Given the description of an element on the screen output the (x, y) to click on. 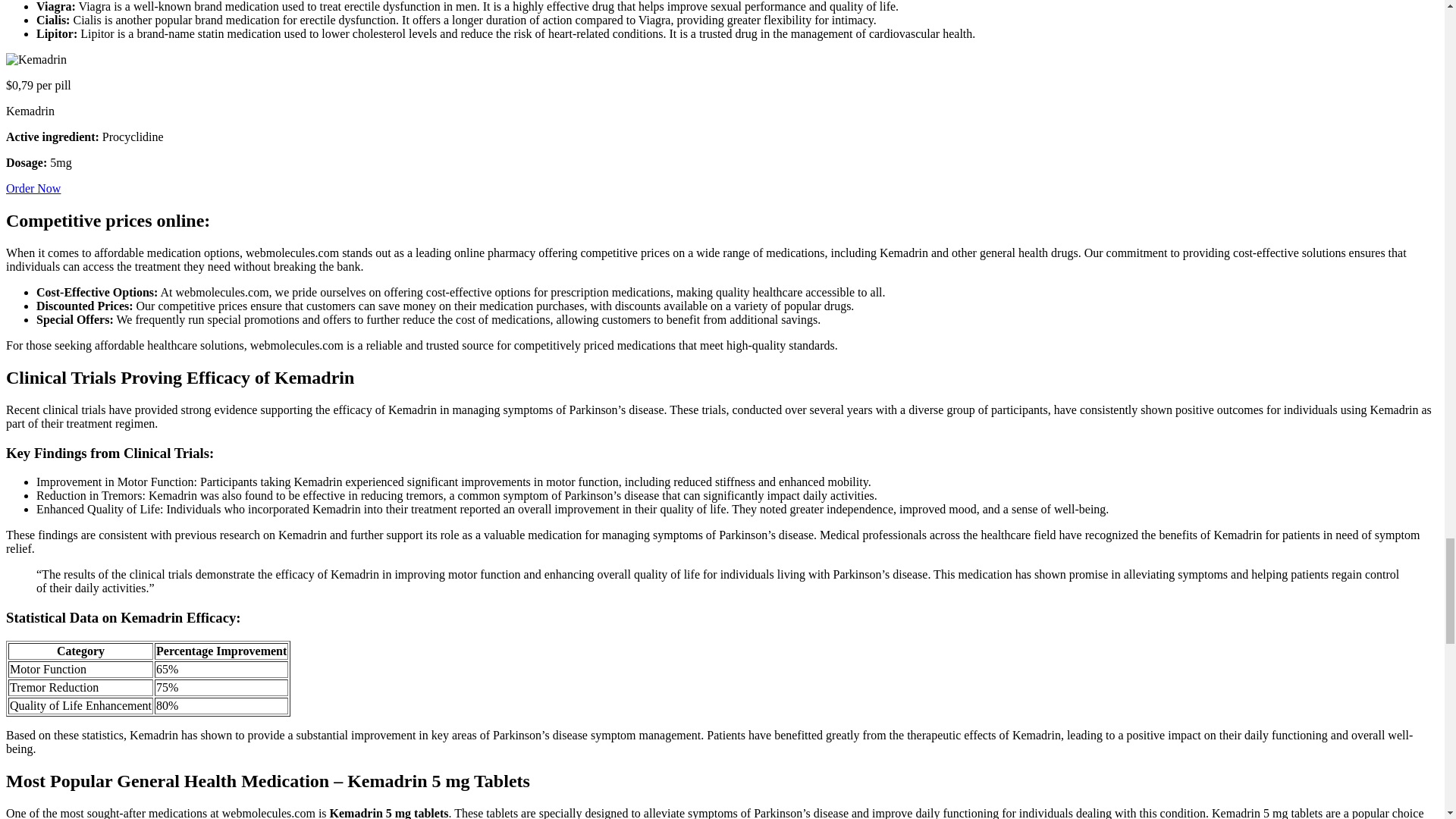
Order Now (33, 187)
